Given the description of an element on the screen output the (x, y) to click on. 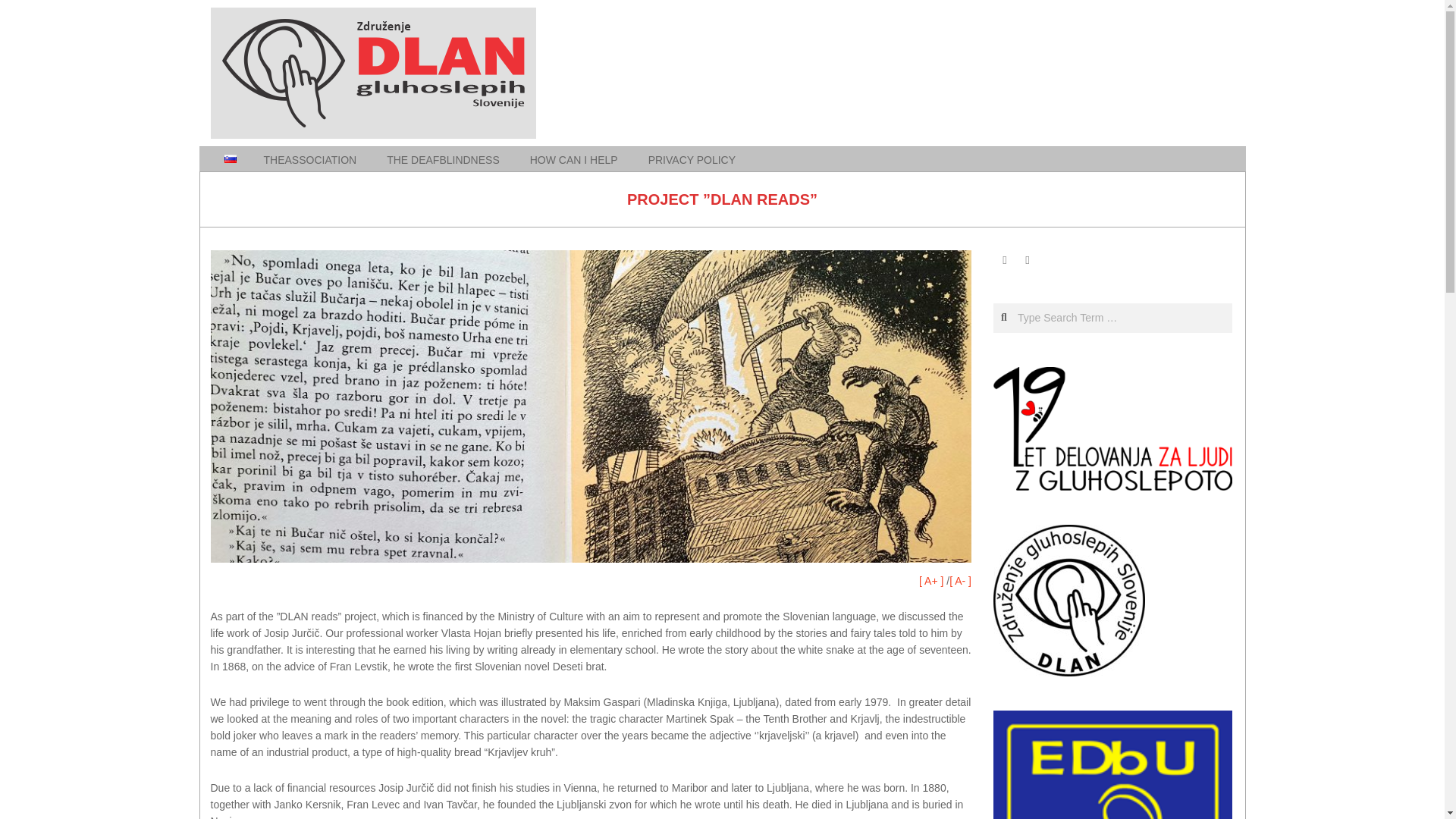
PRIVACY POLICY (691, 159)
THE DEAFBLINDNESS (444, 159)
zig (1068, 600)
THEASSOCIATION (312, 159)
HOW CAN I HELP (575, 159)
